Given the description of an element on the screen output the (x, y) to click on. 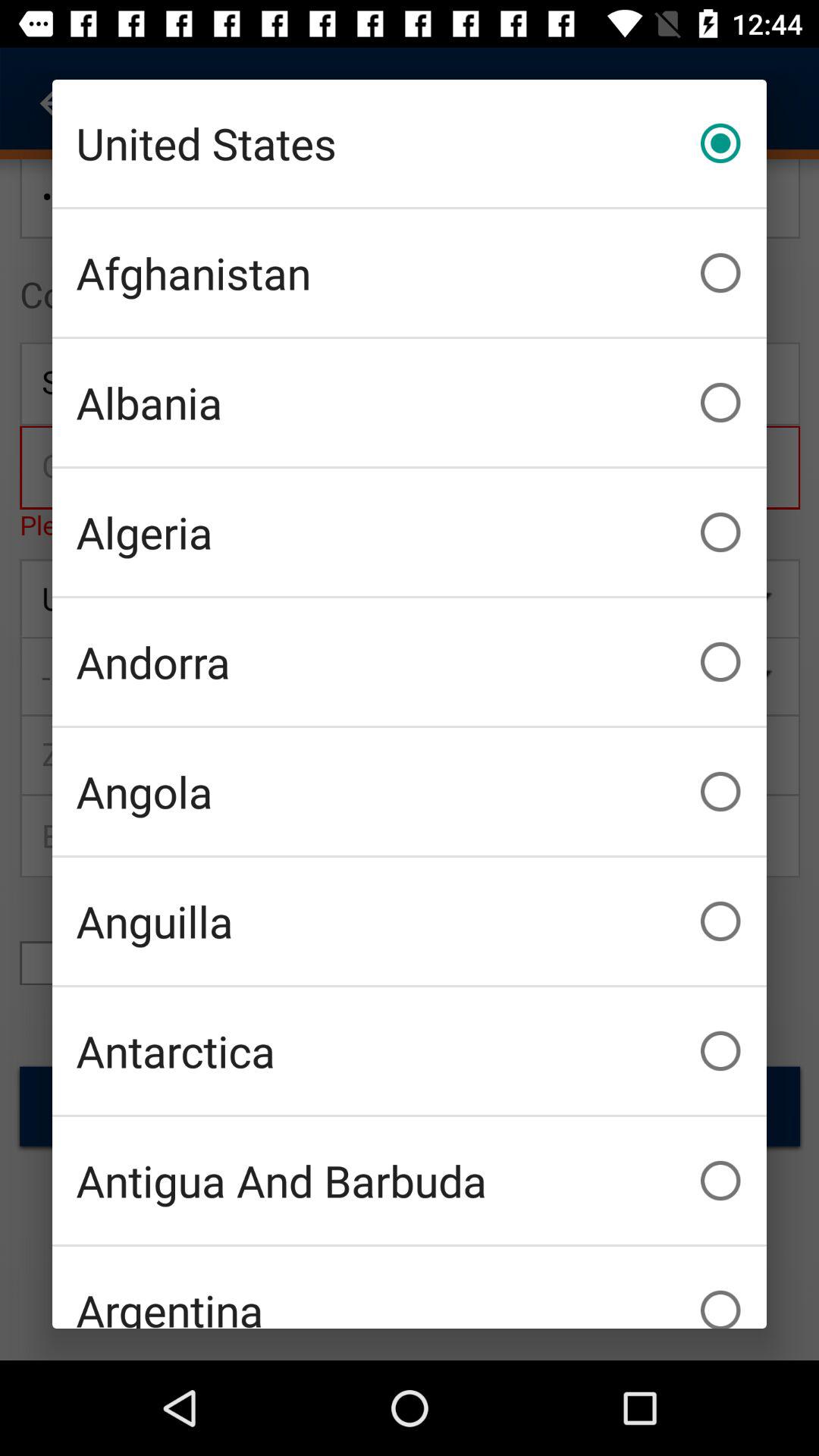
choose albania item (409, 402)
